Given the description of an element on the screen output the (x, y) to click on. 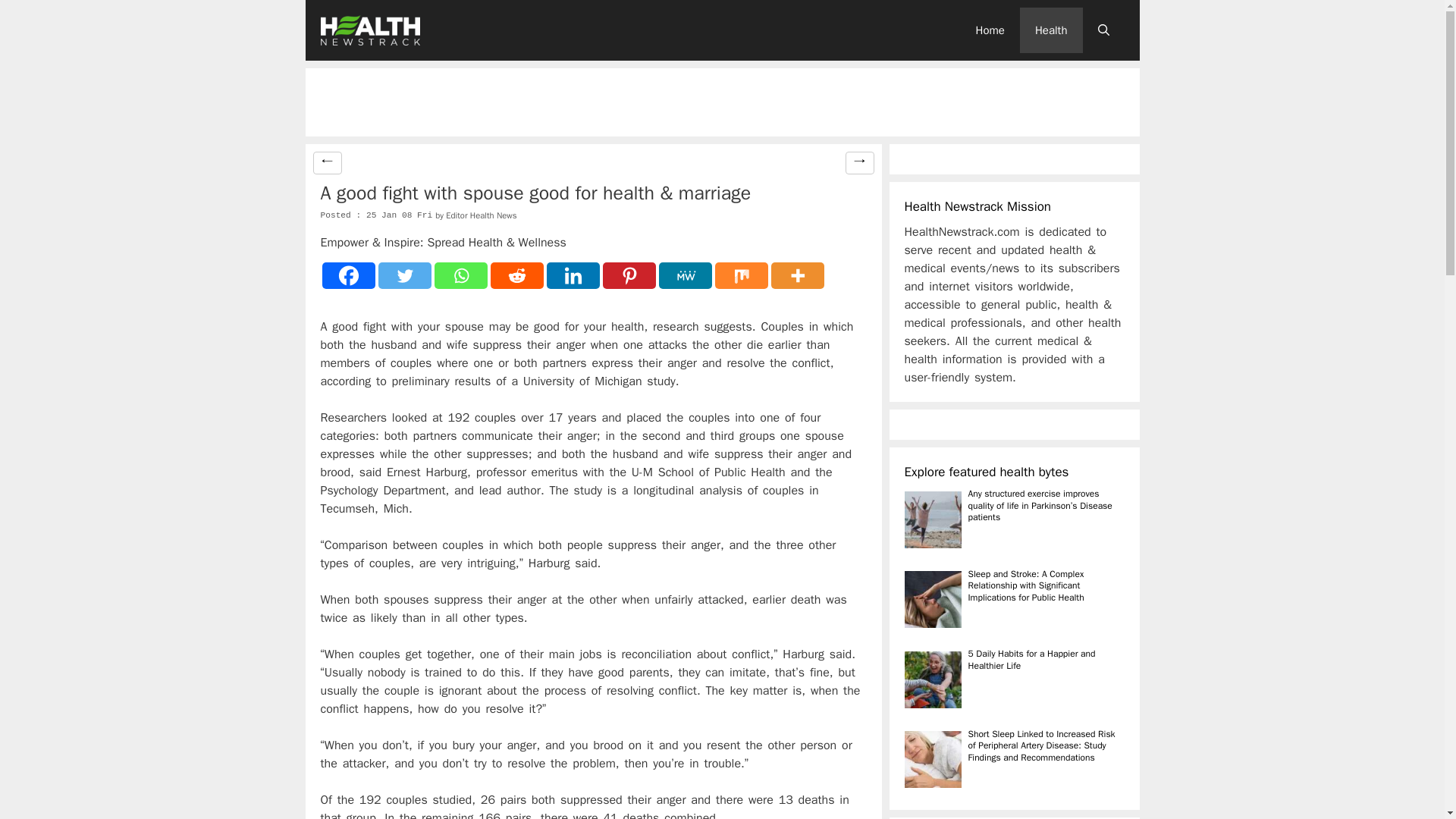
Home (990, 30)
Twitter (403, 275)
Whatsapp (459, 275)
Health (1051, 30)
Reddit (516, 275)
MeWe (684, 275)
Facebook (347, 275)
More (797, 275)
Pinterest (628, 275)
Mix (740, 275)
Linkedin (572, 275)
